Given the description of an element on the screen output the (x, y) to click on. 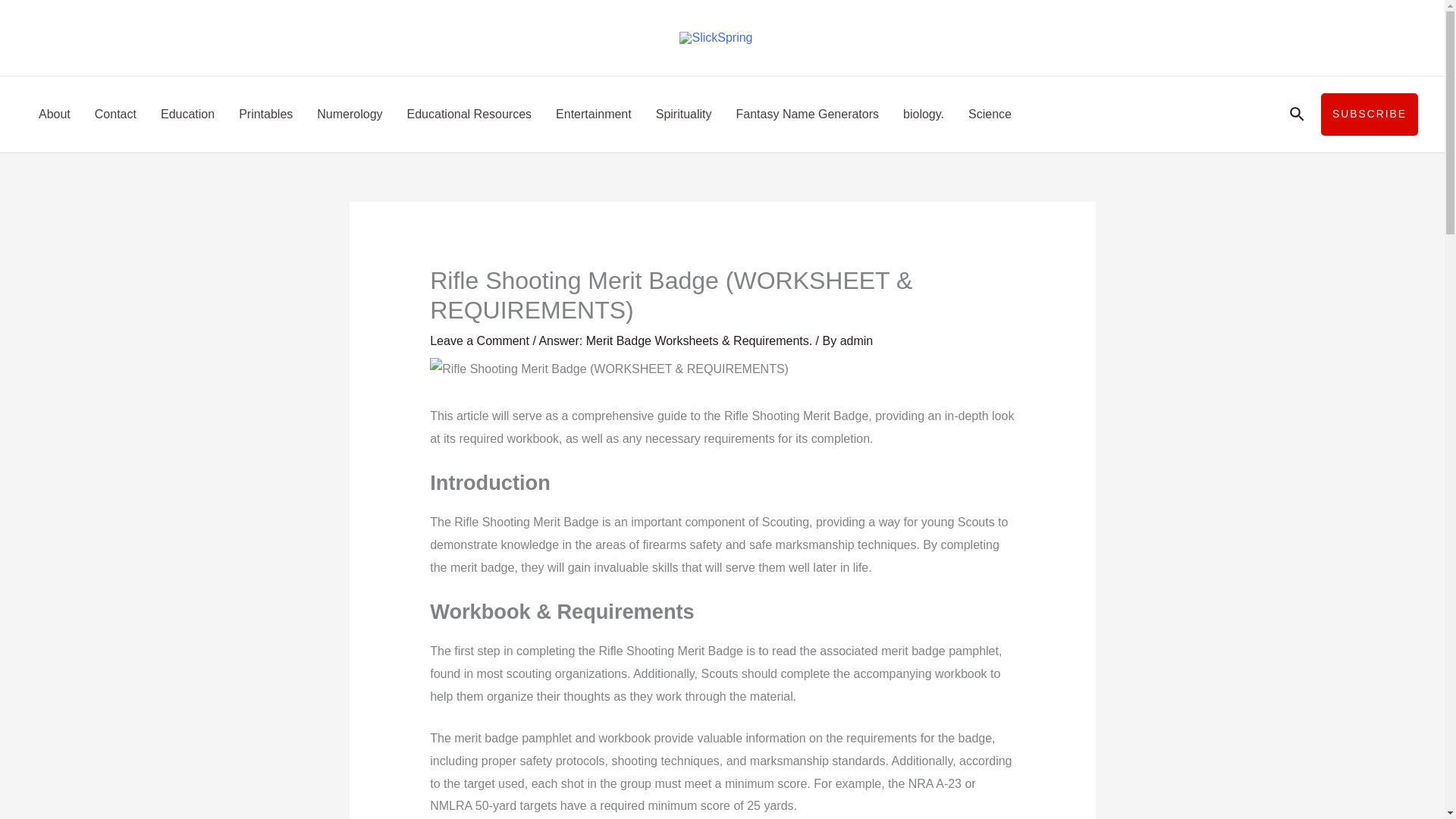
Fantasy Name Generators (807, 114)
admin (856, 340)
Leave a Comment (479, 340)
Entertainment (593, 114)
Science (989, 114)
SUBSCRIBE (1369, 114)
Educational Resources (469, 114)
Education (187, 114)
Spirituality (683, 114)
Numerology (349, 114)
